Given the description of an element on the screen output the (x, y) to click on. 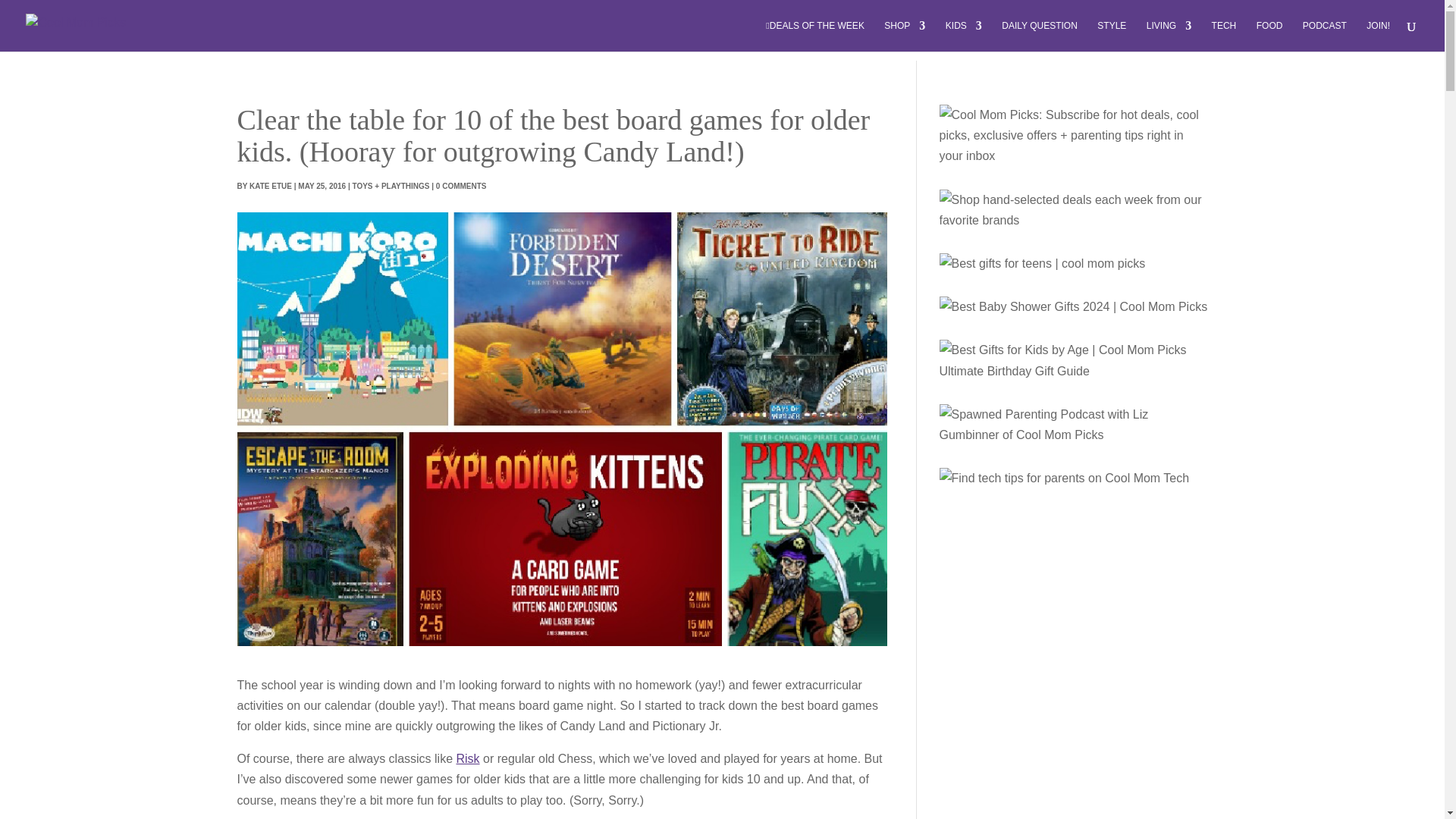
STYLE (1111, 35)
Posts by Kate Etue (270, 185)
Risk (468, 758)
DAILY QUESTION (1039, 35)
PODCAST (1324, 35)
LIVING (1169, 35)
KIDS (962, 35)
SHOP (903, 35)
